Given the description of an element on the screen output the (x, y) to click on. 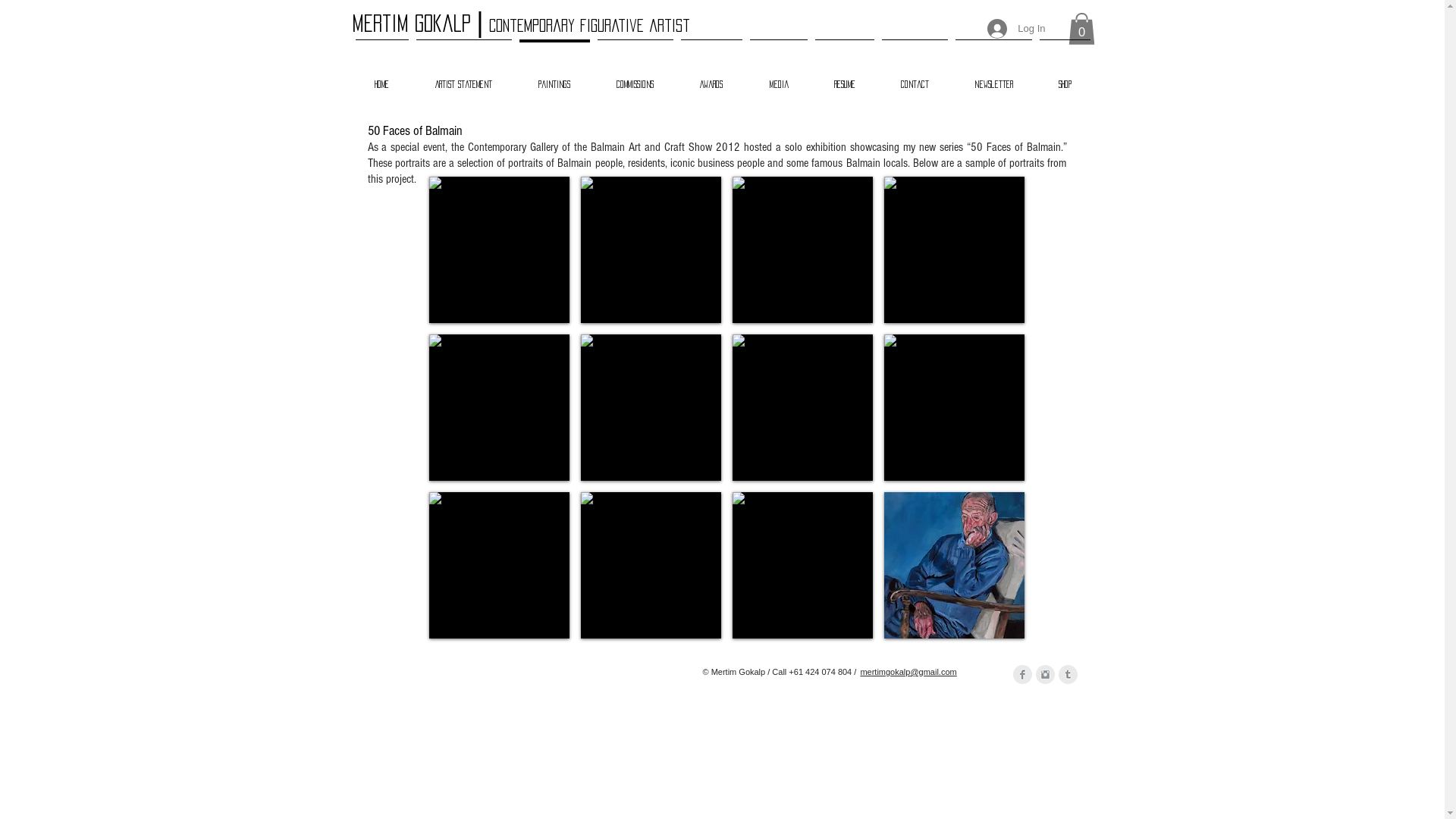
Resume Element type: text (844, 77)
Awards Element type: text (710, 77)
Artist Statement Element type: text (463, 77)
Commissions Element type: text (634, 77)
Paintings Element type: text (554, 77)
0 Element type: text (1080, 28)
Shop Element type: text (1064, 77)
Contact Element type: text (914, 77)
Media Element type: text (778, 77)
mertimgokalp@gmail.com Element type: text (907, 671)
Home Element type: text (381, 77)
Newsletter Element type: text (992, 77)
Mertim Gokalp | Contemporary figurative artist Element type: text (520, 24)
Log In Element type: text (1015, 28)
